Given the description of an element on the screen output the (x, y) to click on. 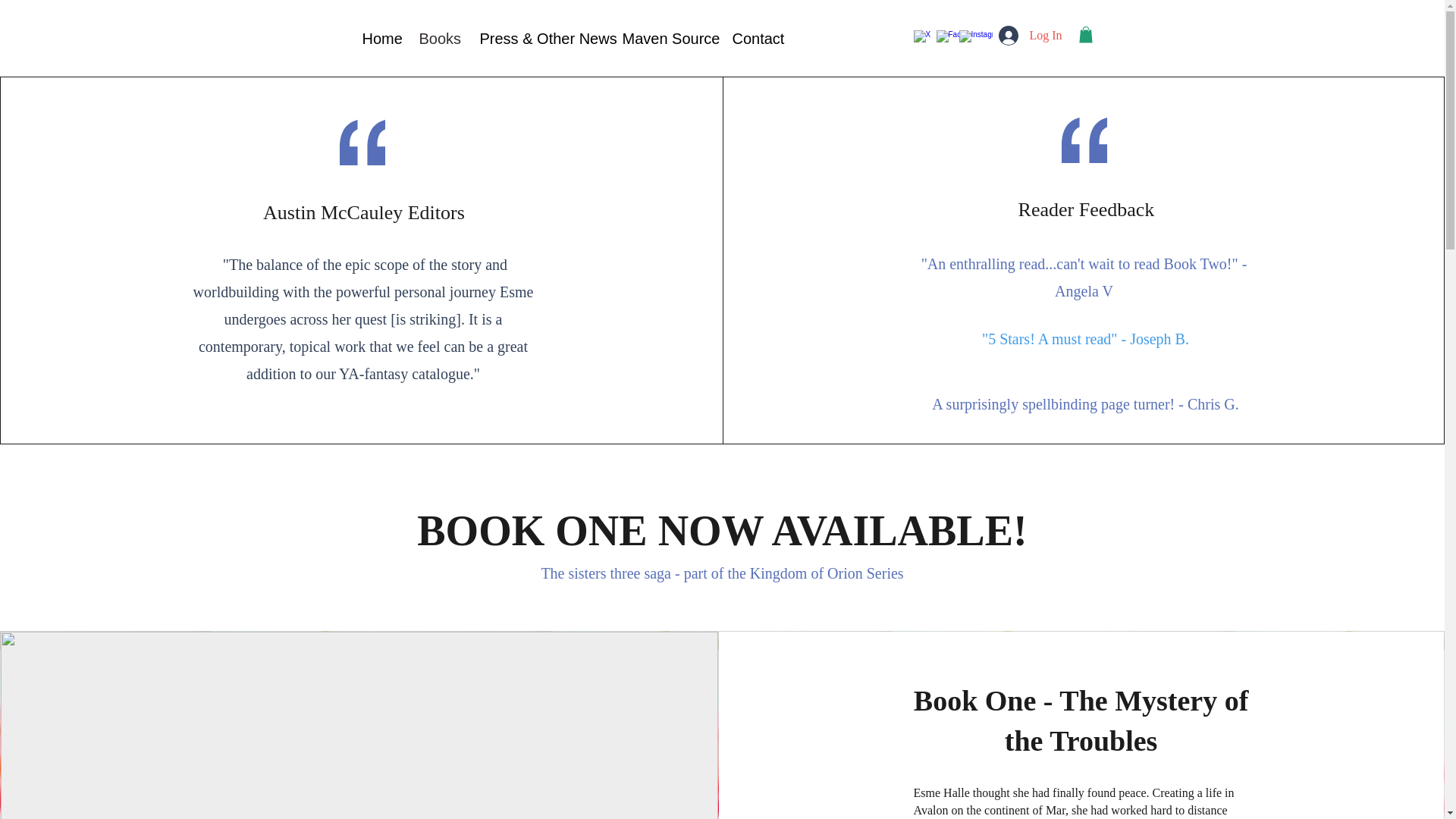
Maven Source (665, 36)
Home (378, 36)
Log In (1029, 35)
Contact (754, 36)
Books (437, 36)
A surprisingly spellbinding page turner! - Chris G. (1085, 403)
